Given the description of an element on the screen output the (x, y) to click on. 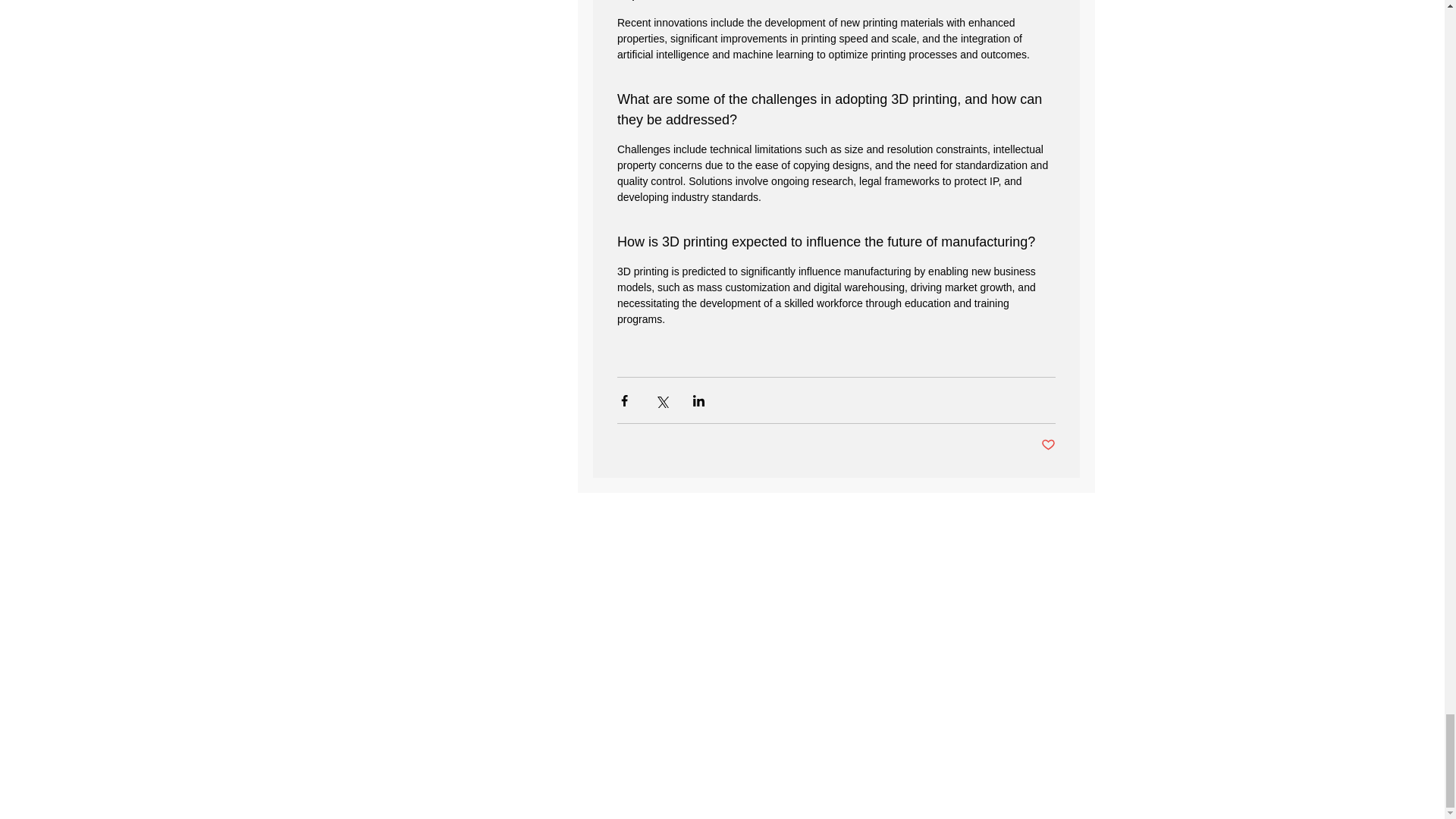
Post not marked as liked (1047, 445)
